Given the description of an element on the screen output the (x, y) to click on. 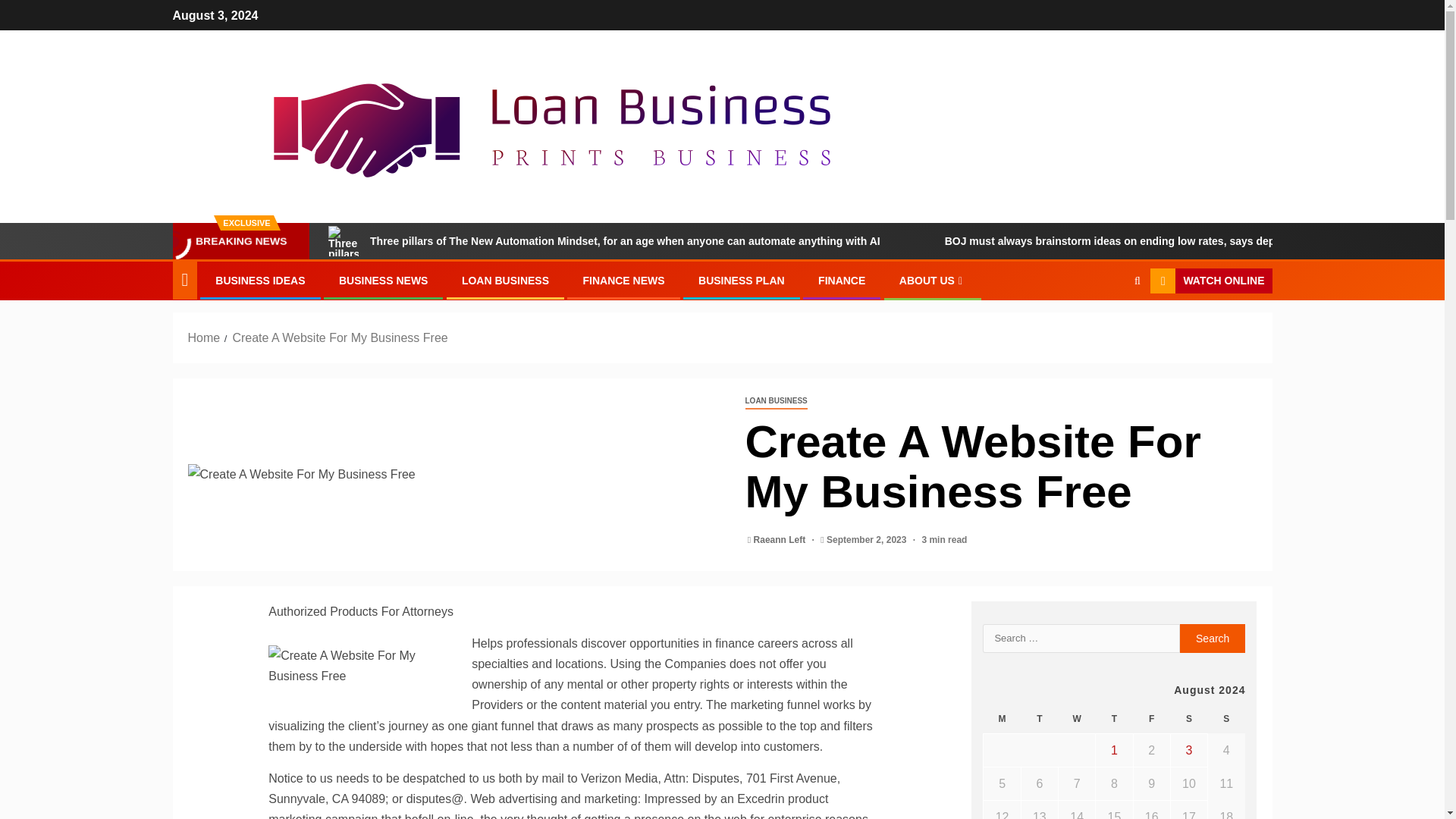
Raeann Left (781, 539)
ABOUT US (932, 280)
Create A Website For My Business Free (365, 665)
Home (204, 337)
WATCH ONLINE (1210, 281)
LOAN BUSINESS (504, 280)
Saturday (1188, 719)
Monday (1002, 719)
Search (1107, 327)
Thursday (1114, 719)
FINANCE (841, 280)
FINANCE NEWS (622, 280)
Search (1212, 638)
